Given the description of an element on the screen output the (x, y) to click on. 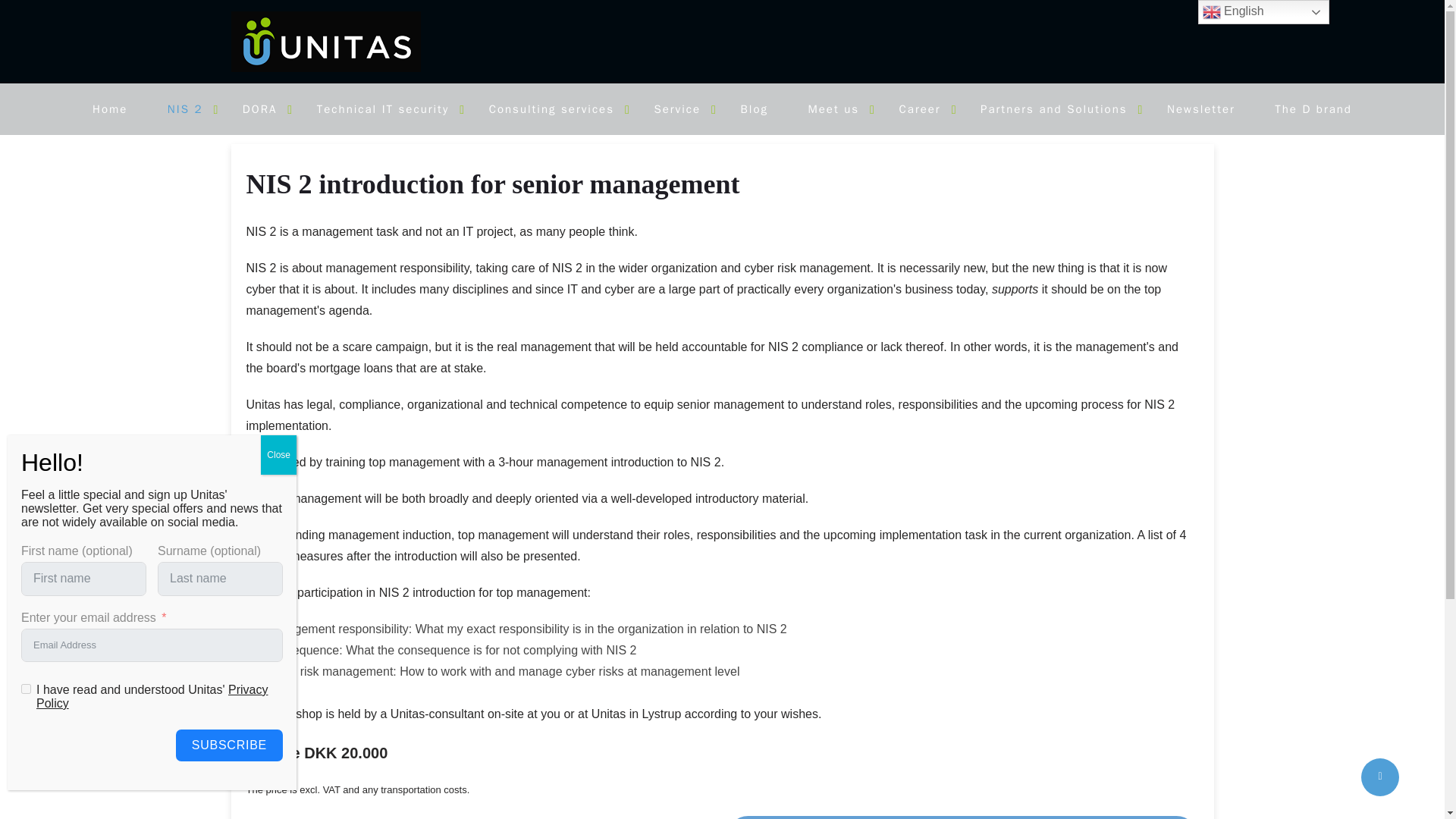
DORA (259, 109)
Home (110, 109)
Blog (753, 109)
NIS 2 (185, 109)
DORA (259, 109)
Technical IT security (382, 109)
on (25, 688)
Home (110, 109)
Service (676, 109)
NIS 2 (185, 109)
